Given the description of an element on the screen output the (x, y) to click on. 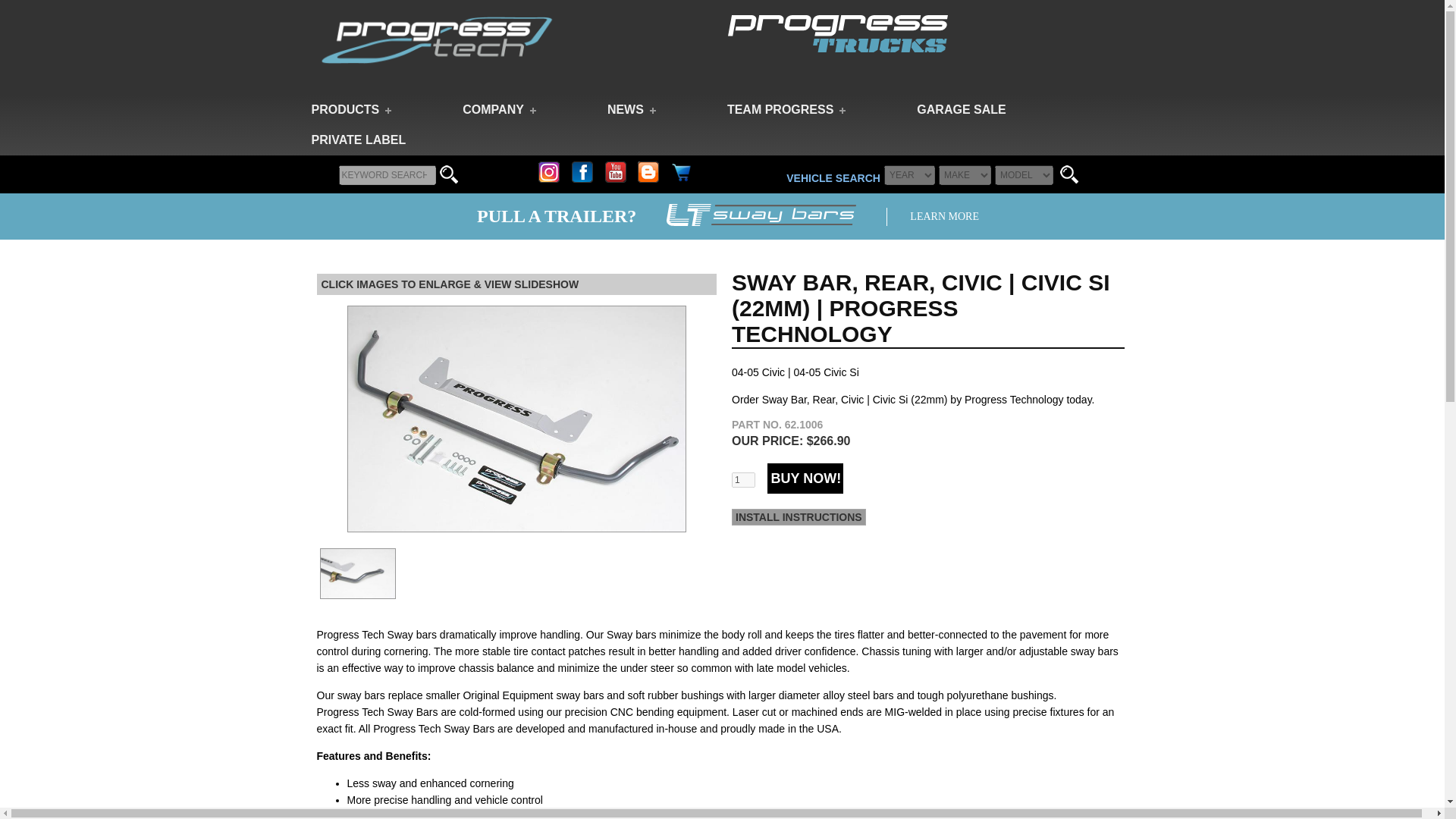
BUY NOW! (805, 478)
PRODUCTS (350, 110)
TEAM PROGRESS (785, 110)
PRIVATE LABEL (358, 140)
1 (743, 479)
GARAGE SALE (961, 110)
COMPANY (498, 110)
NEWS (631, 110)
BUY NOW! (805, 478)
Keyword Search (386, 175)
